Given the description of an element on the screen output the (x, y) to click on. 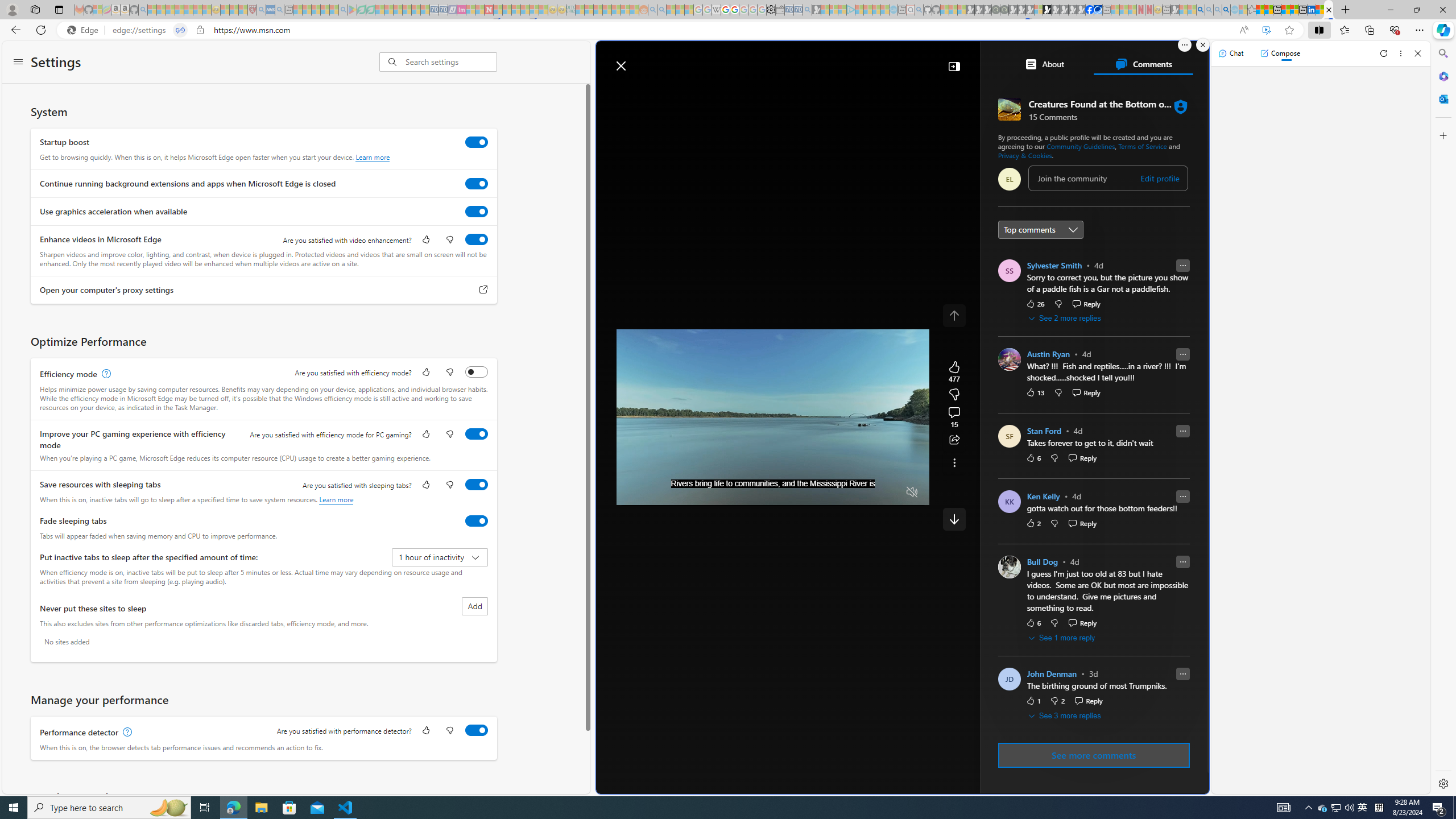
CNN (1037, 366)
Performance detector (476, 730)
26 Like (1034, 303)
